Given the description of an element on the screen output the (x, y) to click on. 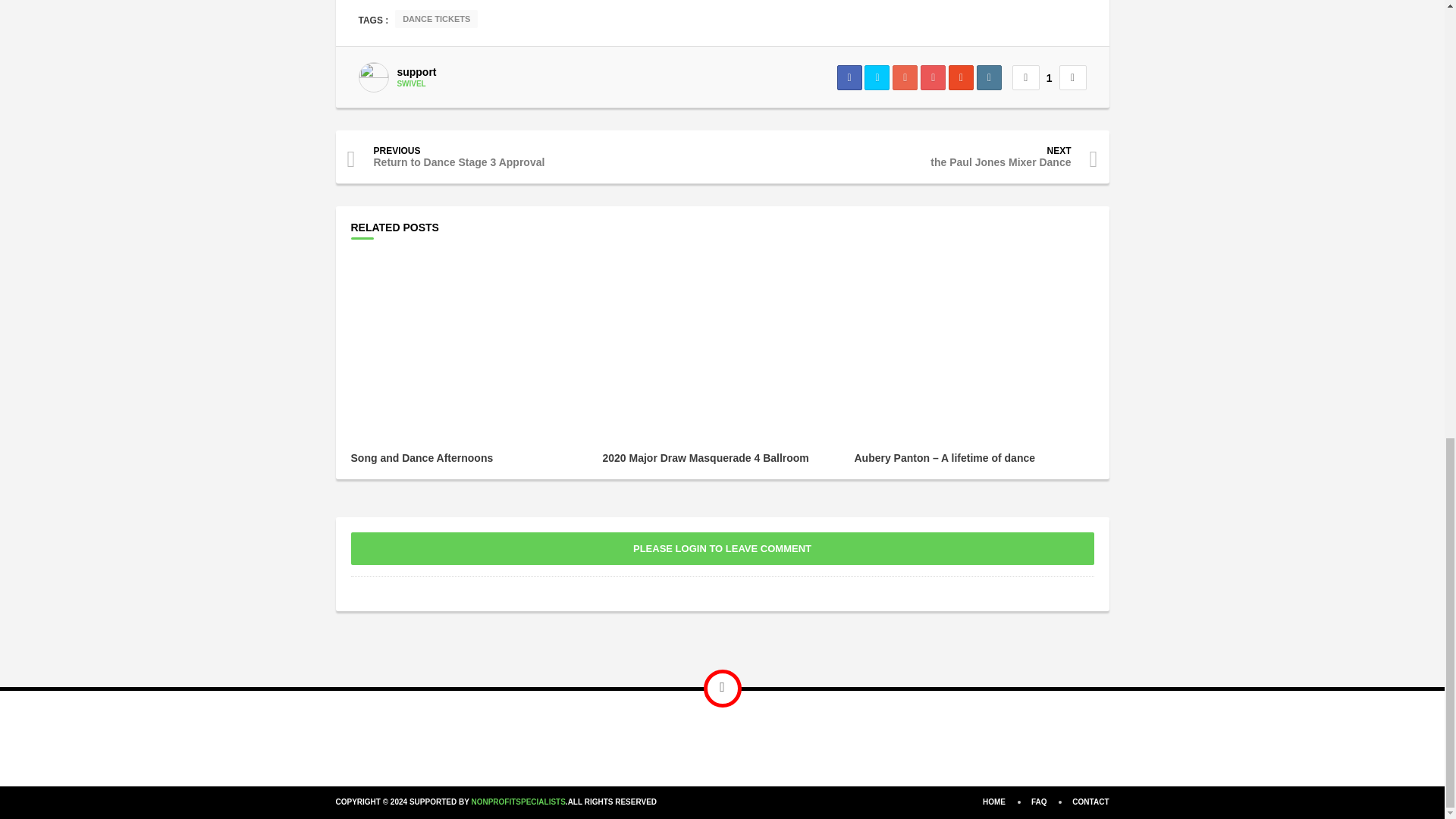
Share on Tumblr (988, 77)
Upvote (1025, 77)
Share on Facebook (849, 77)
Share on Twitter (876, 77)
Share on Pinterest (932, 77)
Downvote (1072, 77)
DANCE TICKETS (435, 18)
Share on StumbleUpon (961, 77)
